Given the description of an element on the screen output the (x, y) to click on. 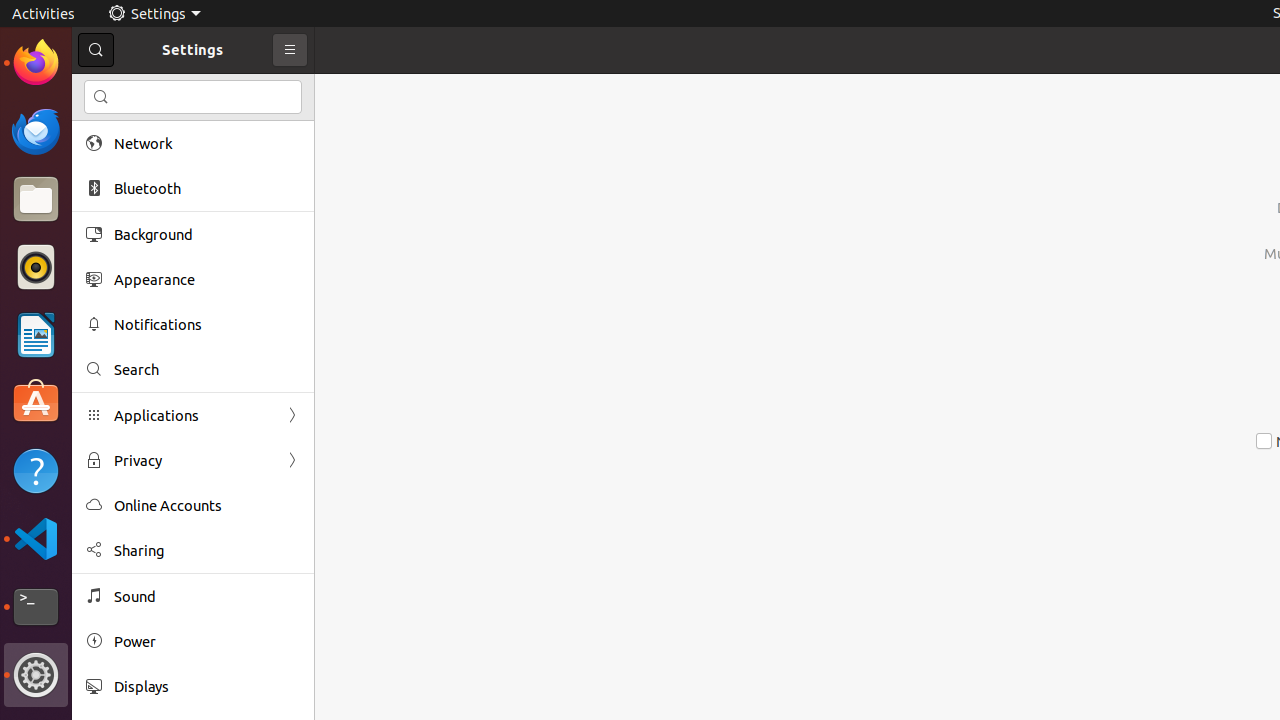
Privacy Element type: label (193, 460)
Sound Element type: label (207, 596)
Search Element type: label (207, 369)
Activities Element type: label (43, 13)
IsaHelpMain.desktop Element type: label (133, 300)
